Given the description of an element on the screen output the (x, y) to click on. 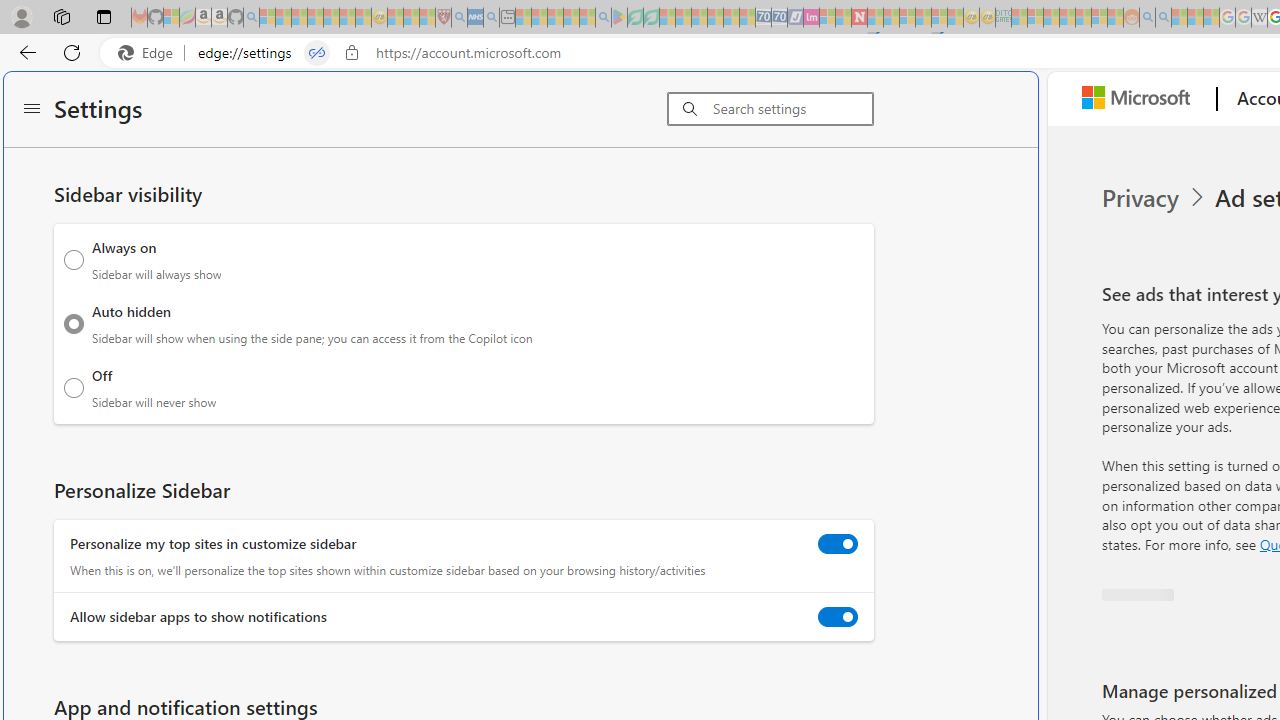
Settings menu (31, 110)
New Report Confirms 2023 Was Record Hot | Watch - Sleeping (331, 17)
Kinda Frugal - MSN - Sleeping (1083, 17)
